Given the description of an element on the screen output the (x, y) to click on. 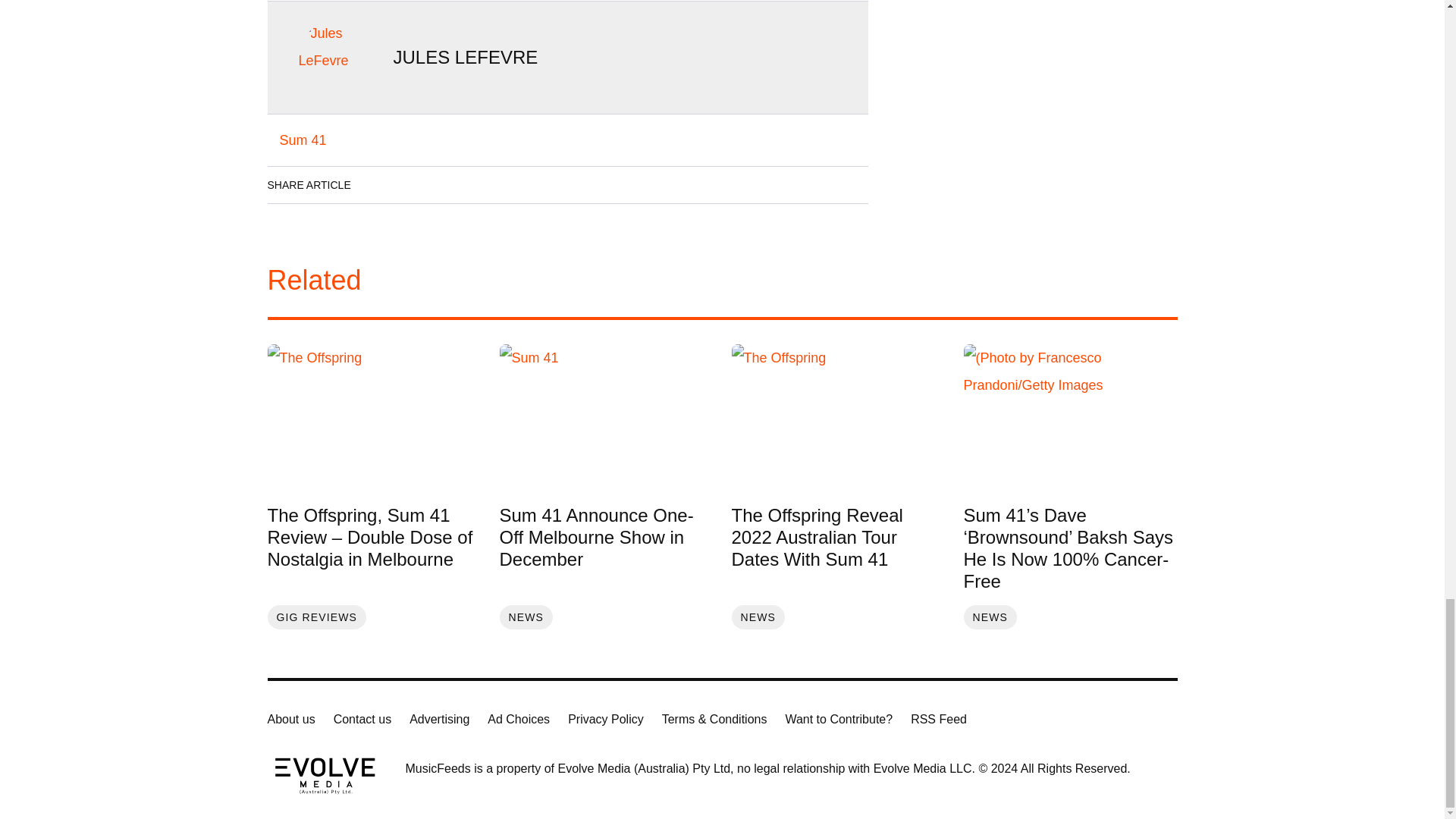
JULES LEFEVRE (465, 56)
Facebook (377, 184)
Twitter (463, 184)
Sum 41 (301, 139)
LinkedIn (420, 184)
